Given the description of an element on the screen output the (x, y) to click on. 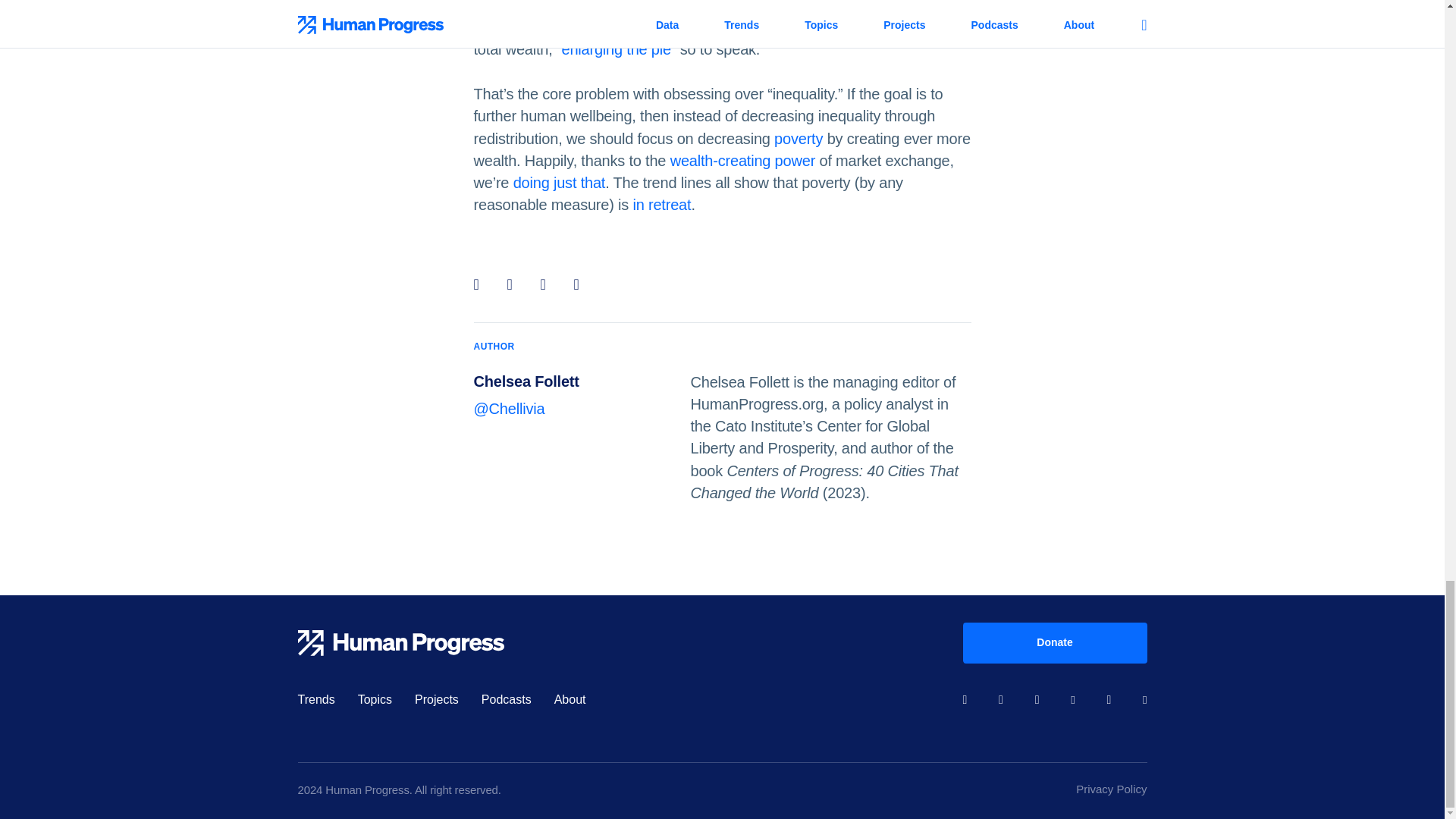
Share this post on Reddit (547, 283)
enlarging the pie (615, 48)
doing just that (559, 182)
poverty (798, 138)
Share this post on Facebook (480, 283)
Share this post on Twitter (513, 283)
wealth-creating power (742, 160)
in retreat (660, 204)
